Given the description of an element on the screen output the (x, y) to click on. 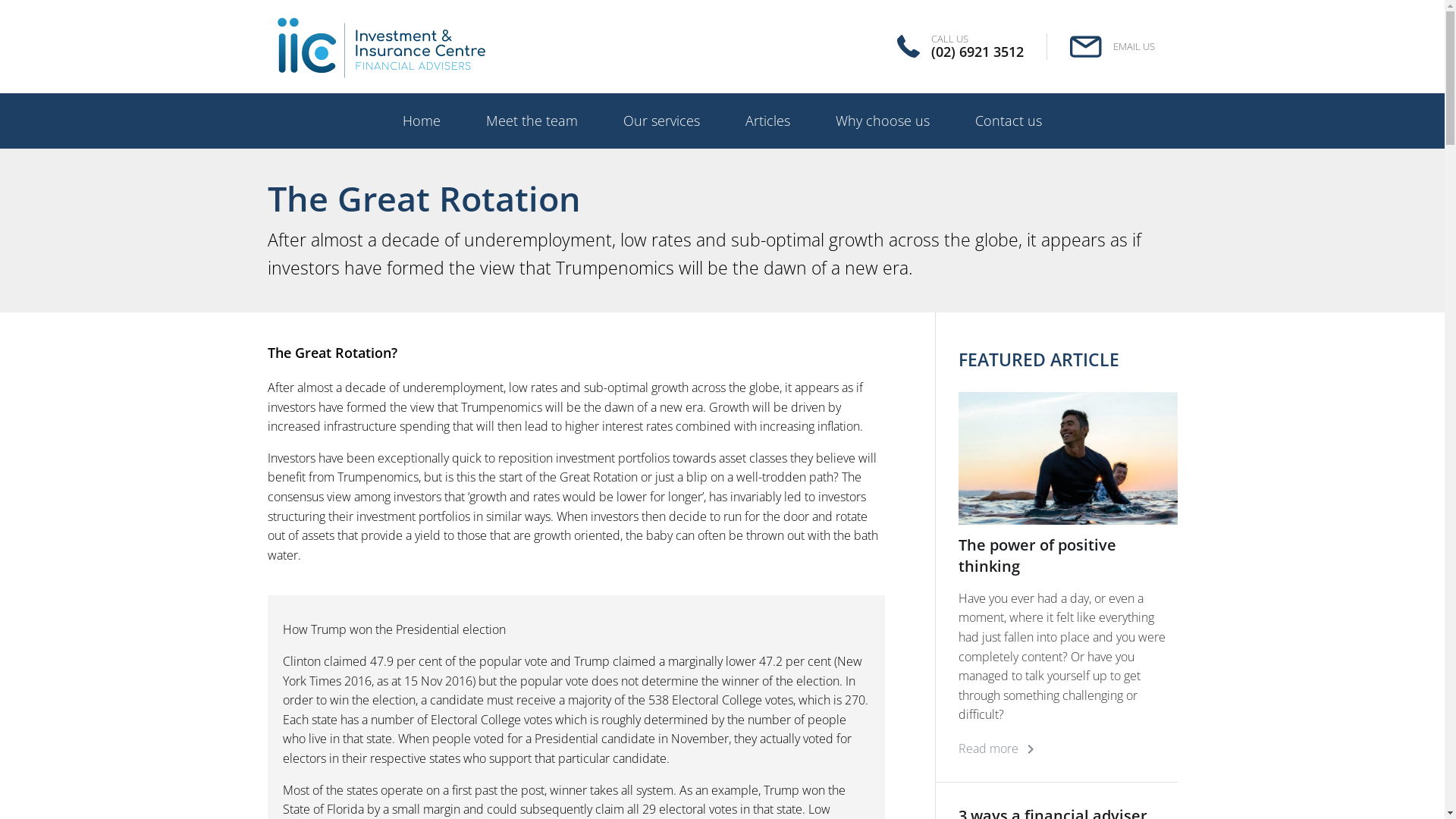
Why choose us Element type: text (882, 120)
Contact us Element type: text (1008, 120)
CALL US
(02) 6921 3512 Element type: text (959, 46)
EMAIL US Element type: text (1111, 46)
Our services Element type: text (661, 120)
Articles Element type: text (767, 120)
Home Element type: text (421, 120)
Meet the team Element type: text (531, 120)
